Given the description of an element on the screen output the (x, y) to click on. 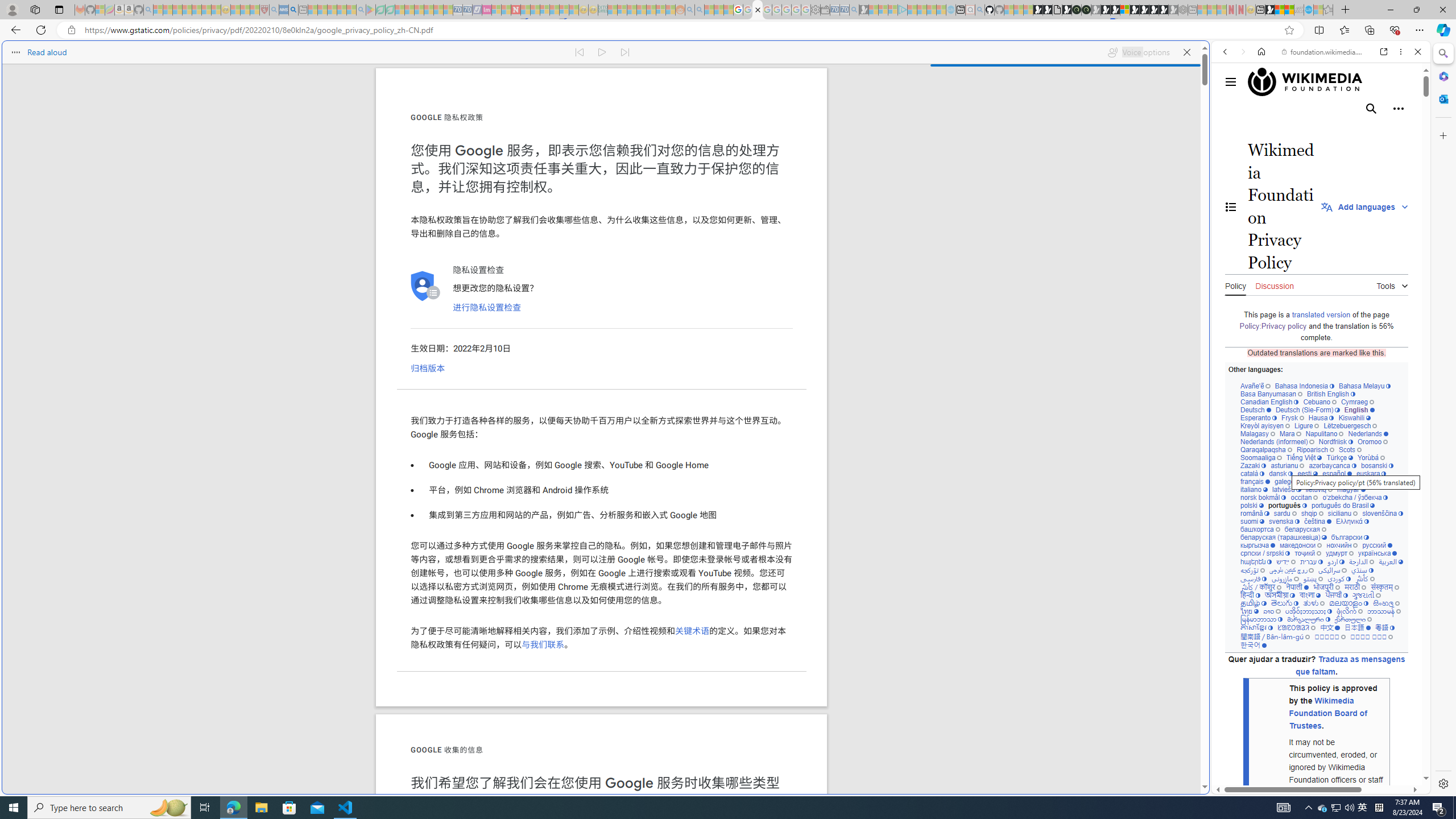
Hausa (1320, 417)
Wikimedia Foundation Governance Wiki (1310, 81)
Earth has six continents not seven, radical new study claims (1288, 9)
Frysk (1292, 417)
